Given the description of an element on the screen output the (x, y) to click on. 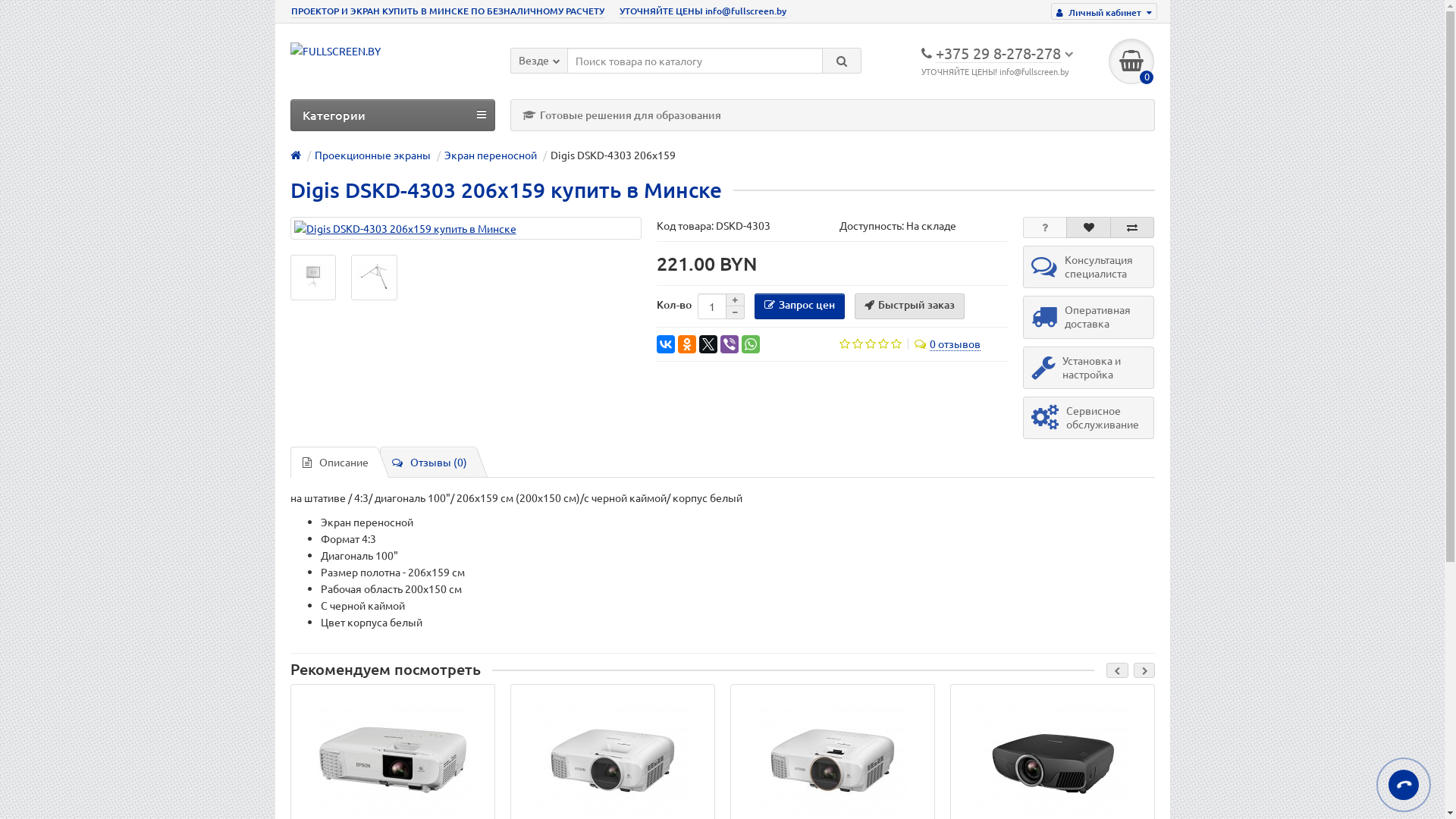
0 Element type: text (1131, 61)
FULLSCREEN.BY Element type: hover (334, 50)
Viber Element type: hover (729, 344)
Twitter Element type: hover (708, 344)
WhatsApp Element type: hover (750, 344)
